Given the description of an element on the screen output the (x, y) to click on. 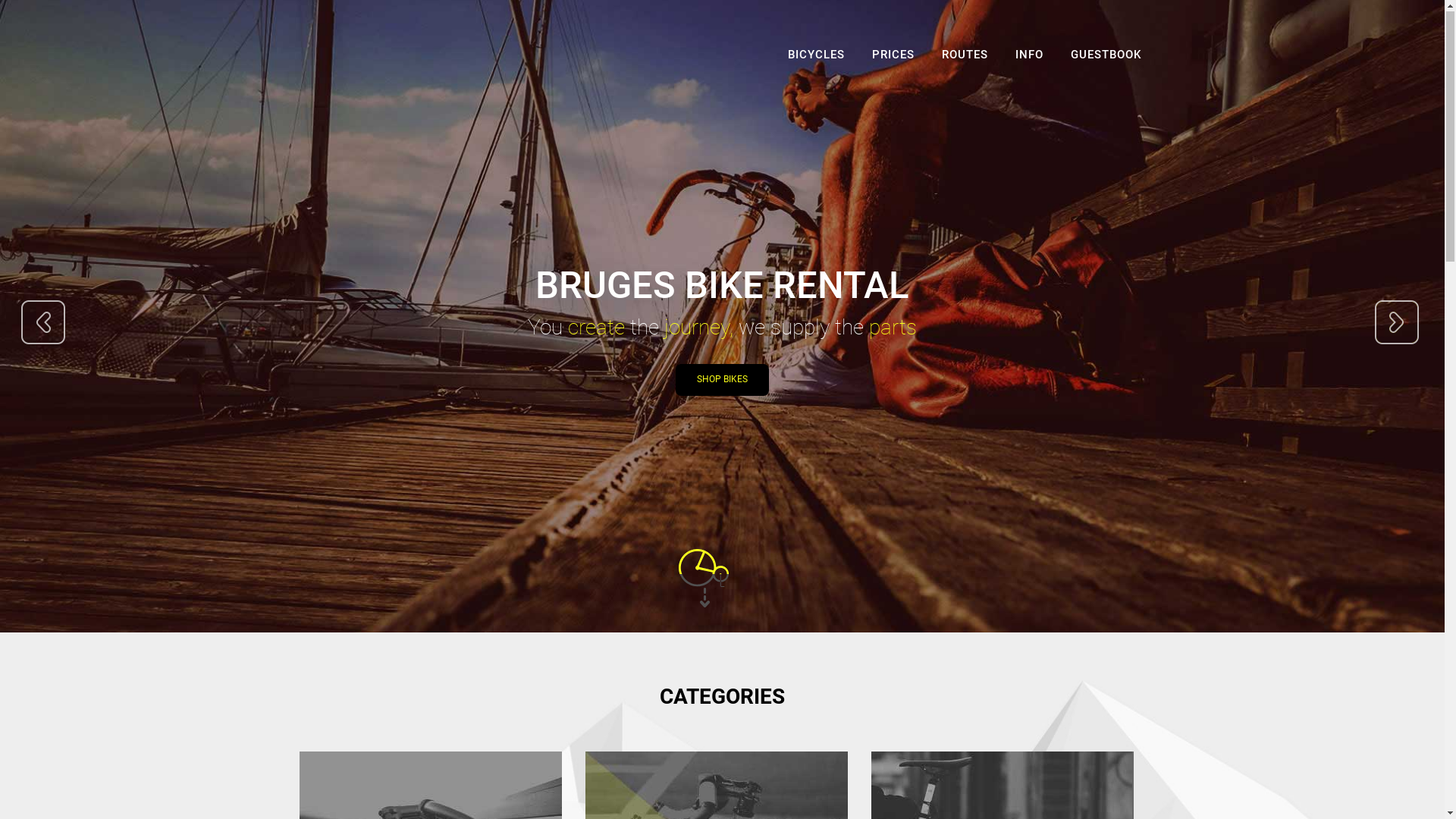
Previous Element type: text (44, 323)
BICYCLES Element type: text (815, 58)
SHOP BIKES Element type: text (721, 380)
Next Element type: text (1396, 323)
GUESTBOOK Element type: text (1105, 58)
PRICES Element type: text (893, 58)
ROUTES Element type: text (964, 58)
INFO Element type: text (1028, 58)
